Given the description of an element on the screen output the (x, y) to click on. 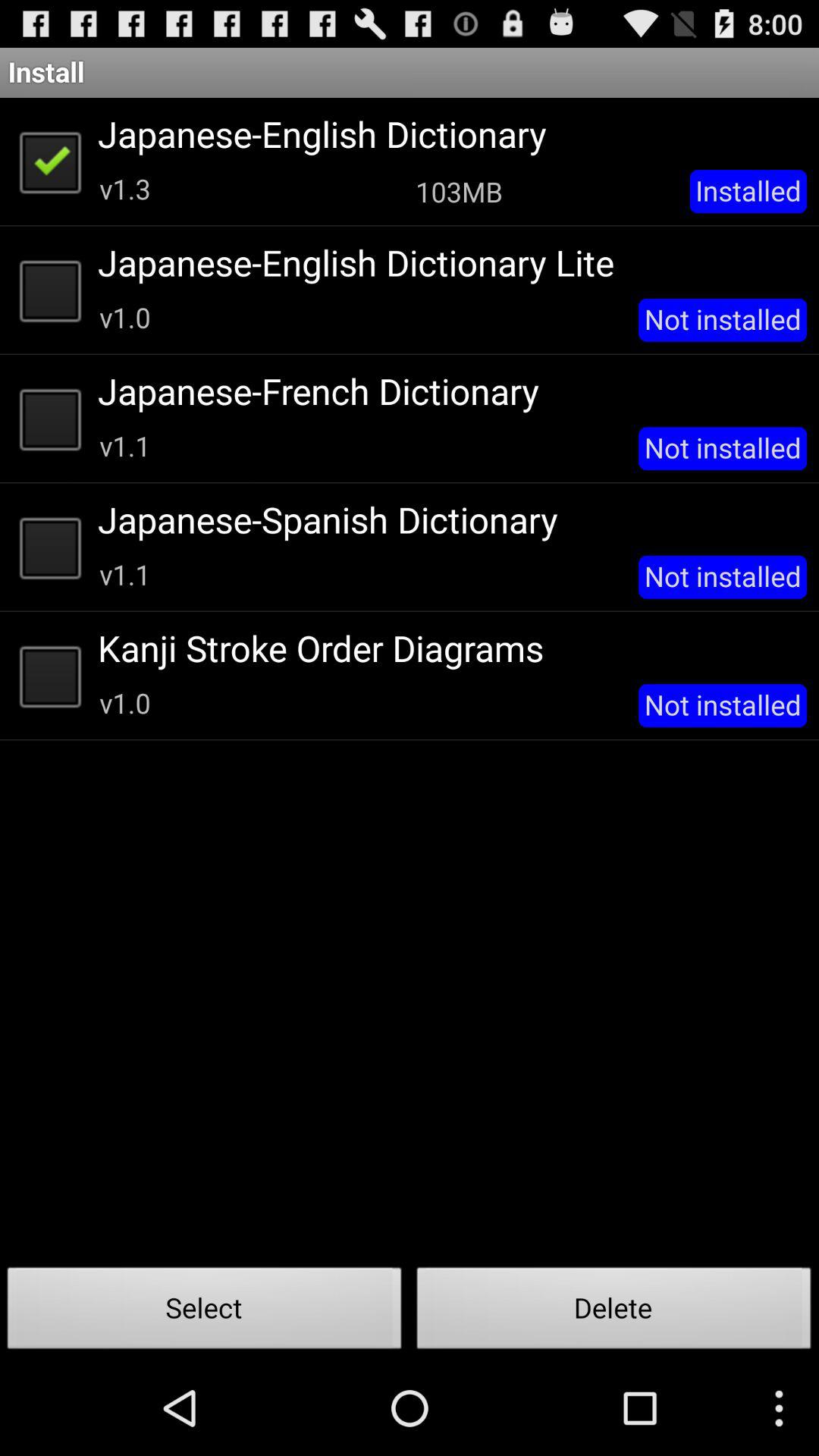
turn on delete (614, 1312)
